Given the description of an element on the screen output the (x, y) to click on. 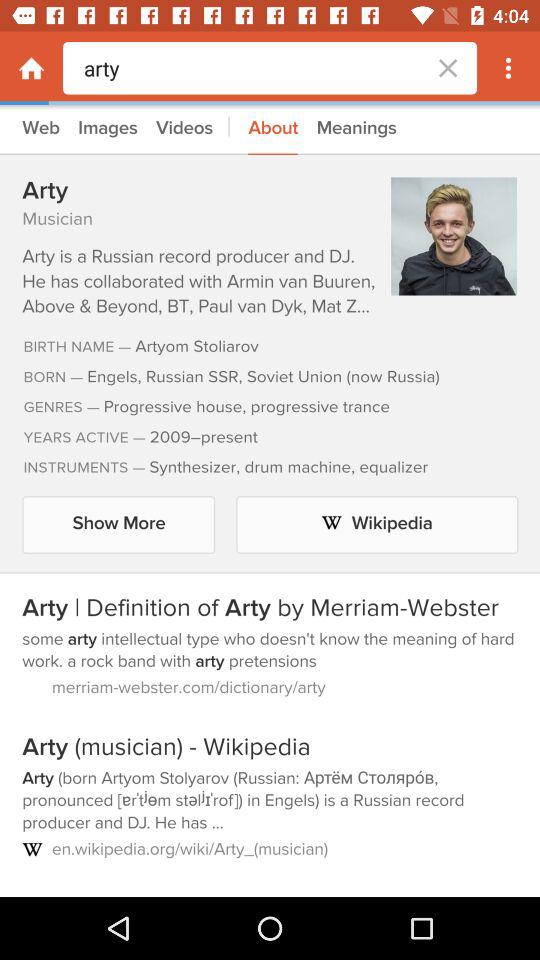
menu page (31, 68)
